Given the description of an element on the screen output the (x, y) to click on. 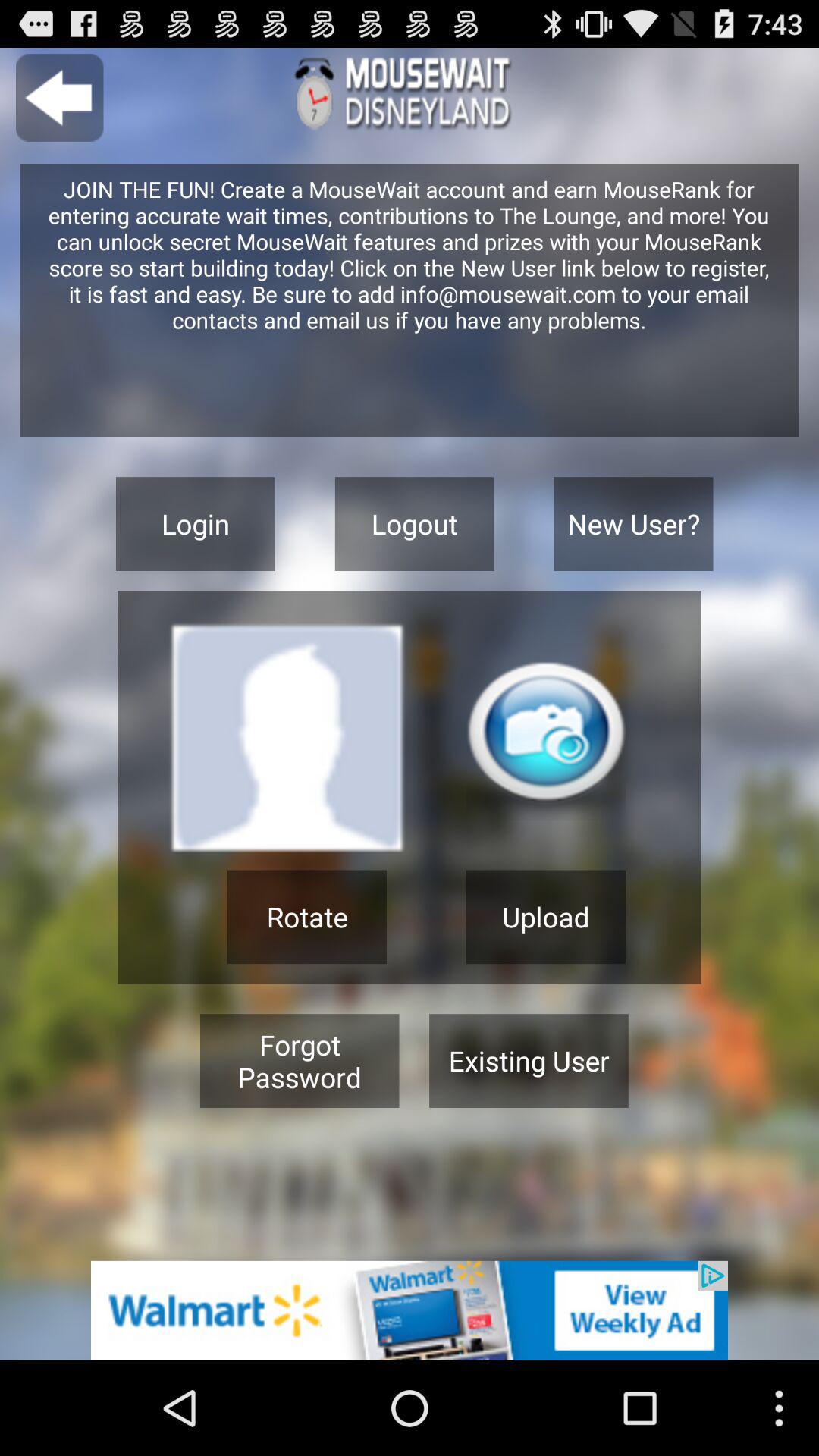
page back (59, 97)
